Given the description of an element on the screen output the (x, y) to click on. 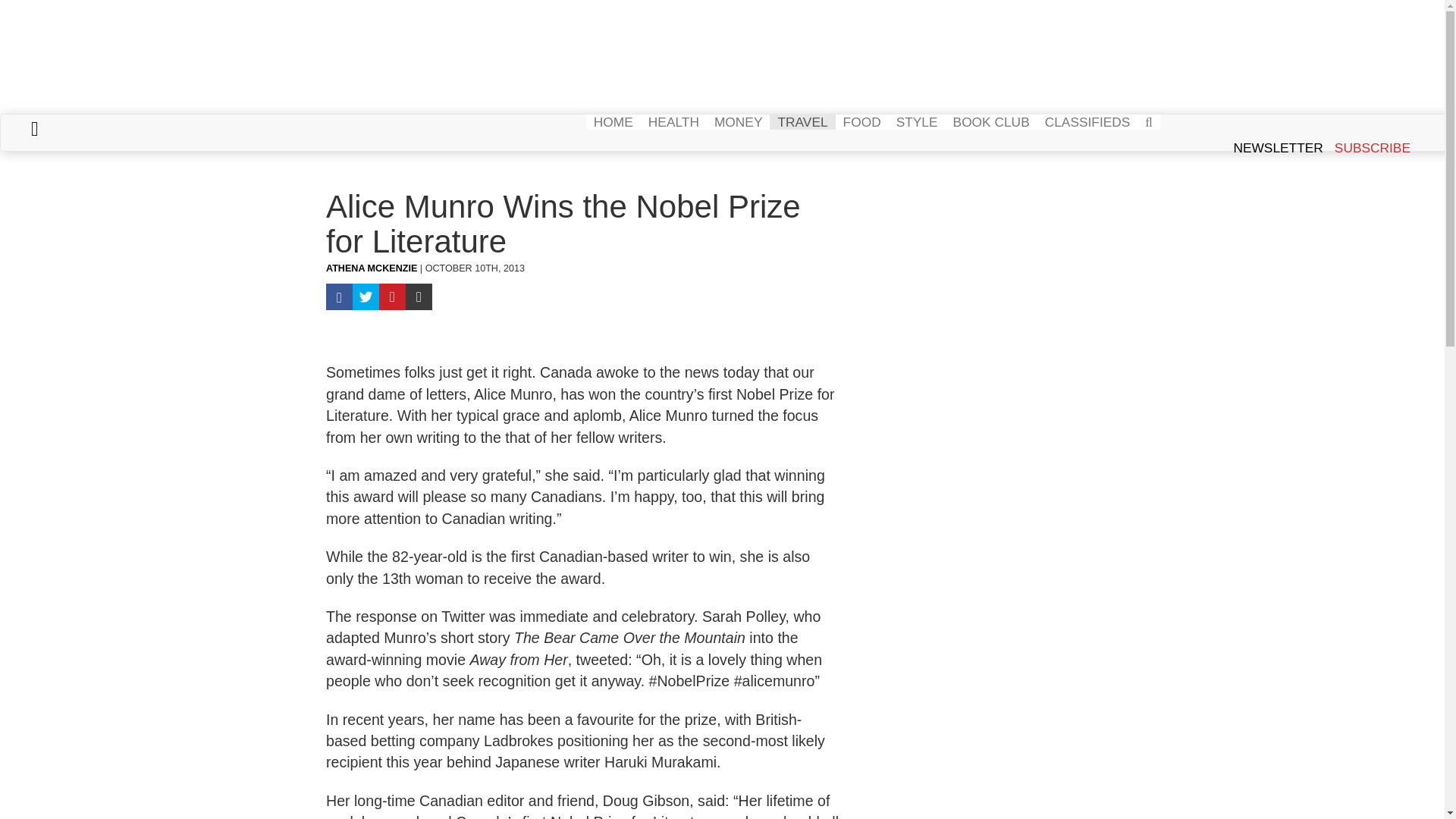
HEALTH (673, 121)
MONEY (738, 121)
HOME (613, 121)
